Given the description of an element on the screen output the (x, y) to click on. 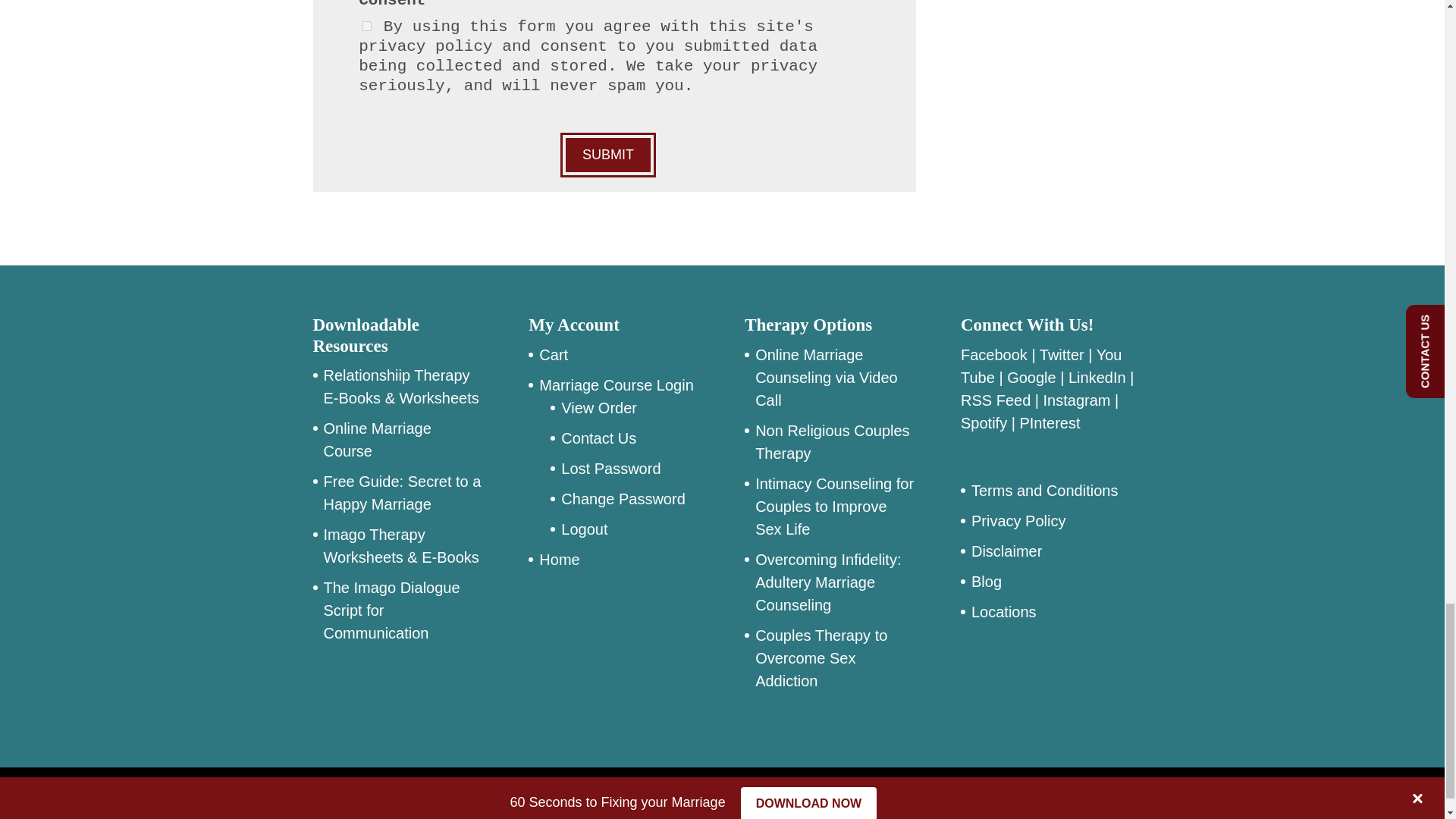
1 (366, 26)
SUBMIT (608, 154)
